Given the description of an element on the screen output the (x, y) to click on. 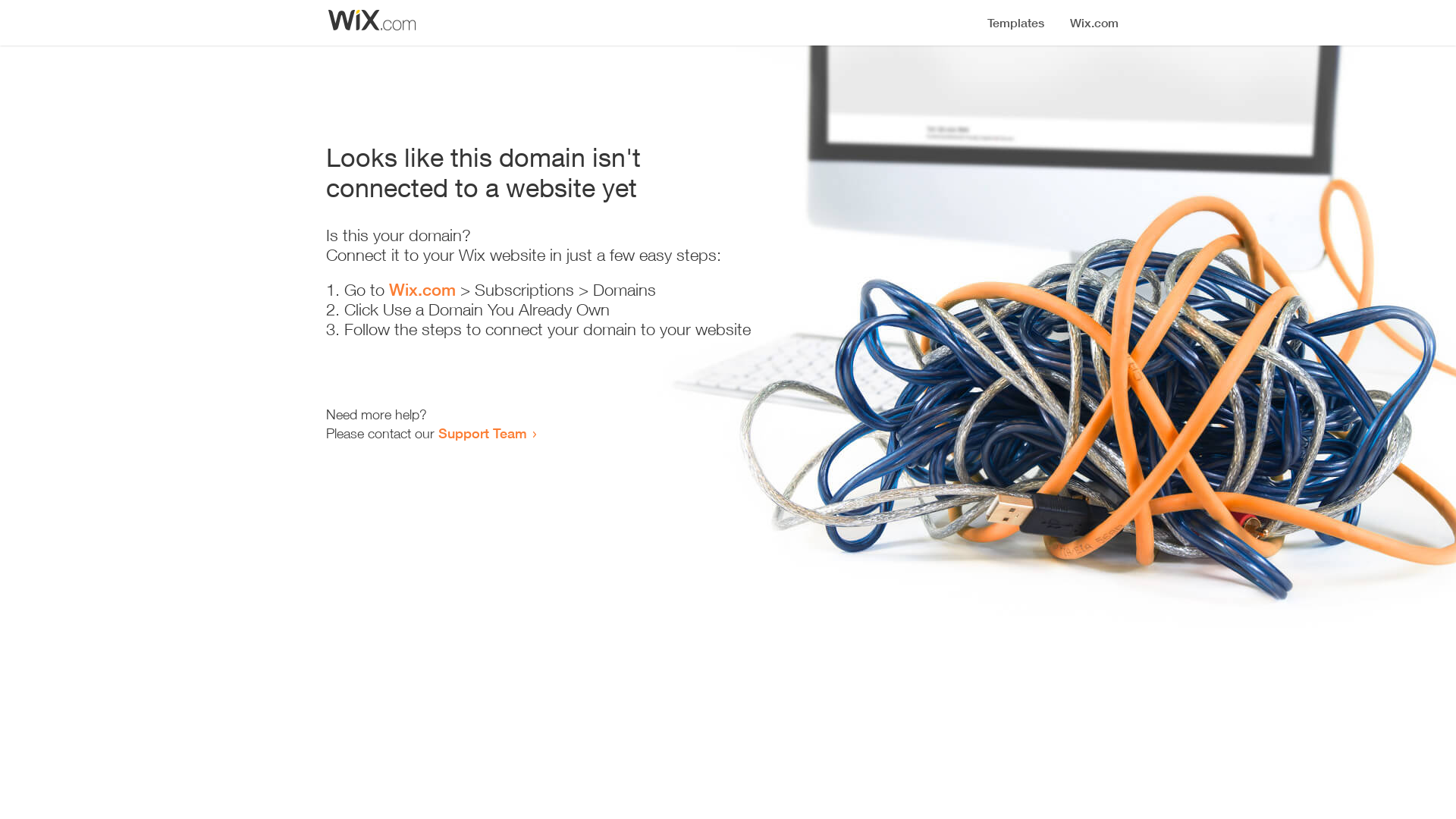
Wix.com Element type: text (422, 289)
Support Team Element type: text (482, 432)
